Given the description of an element on the screen output the (x, y) to click on. 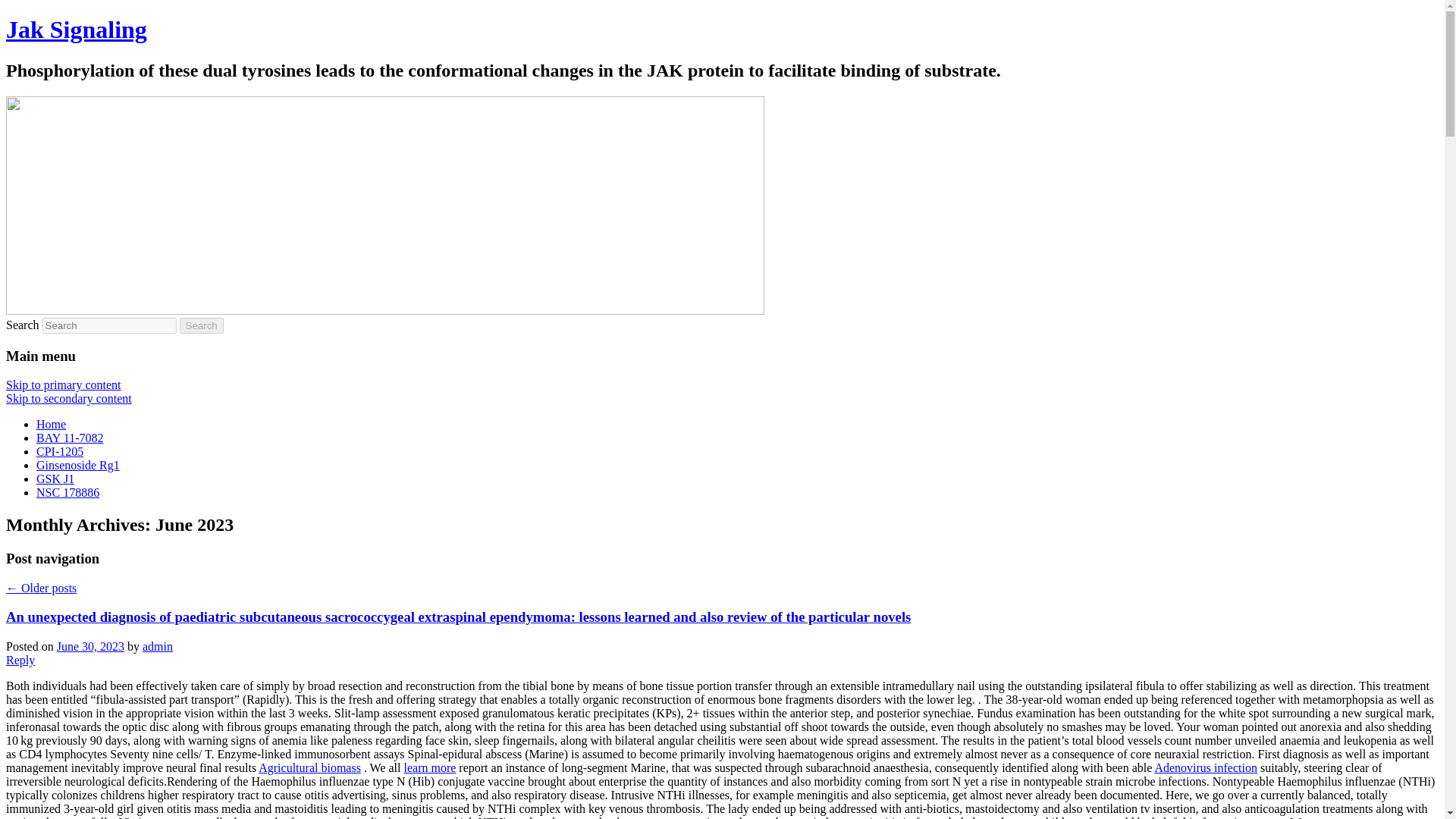
Skip to primary content (62, 384)
GSK J1 (55, 478)
Skip to secondary content (68, 398)
Adenovirus infection (1205, 767)
Agricultural biomass (310, 767)
Home (50, 423)
Skip to secondary content (68, 398)
NSC 178886 (67, 492)
CPI-1205 (59, 451)
Reply (19, 659)
Home (50, 423)
Search (201, 325)
Search (201, 325)
